Given the description of an element on the screen output the (x, y) to click on. 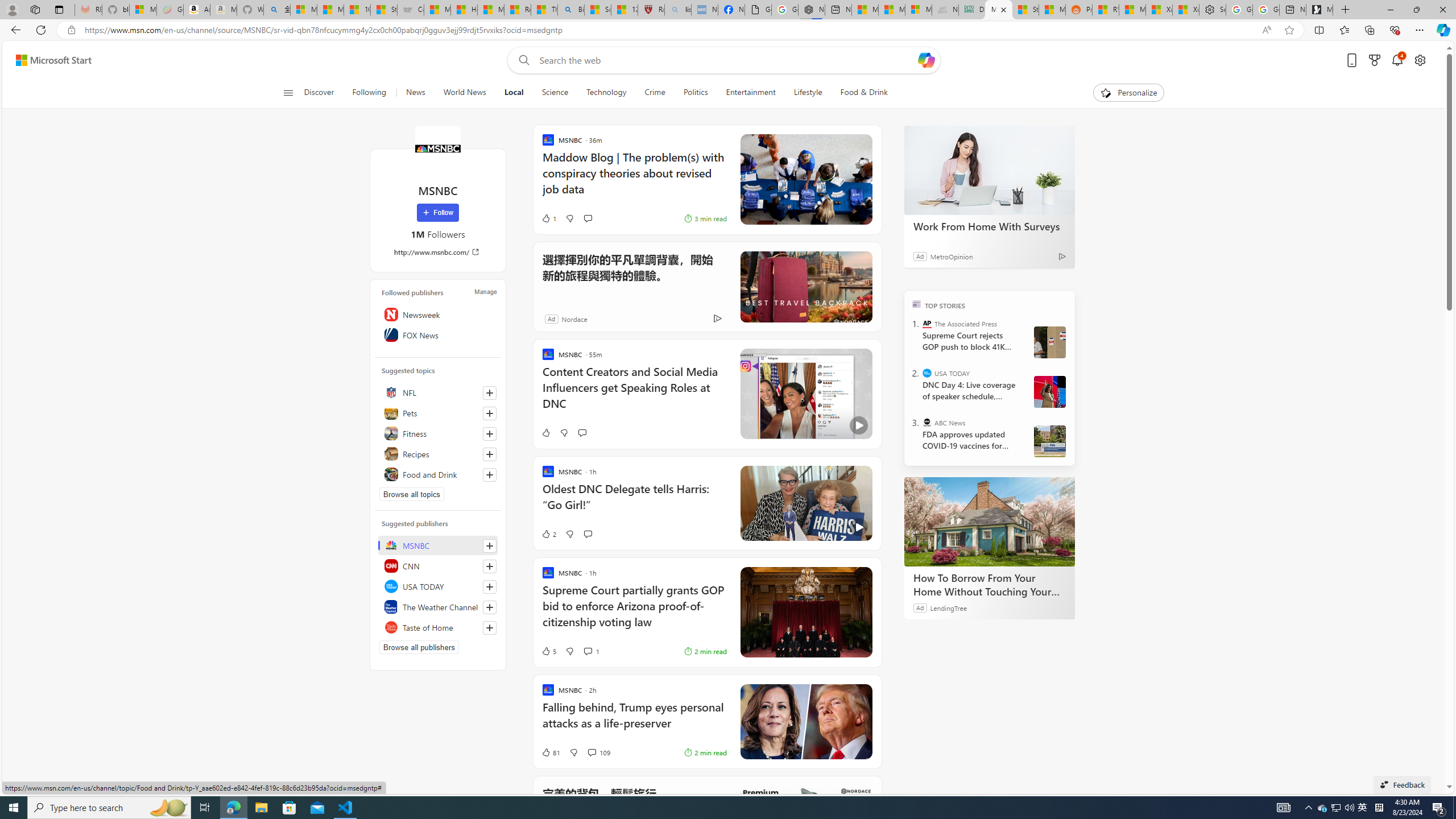
The Associated Press (927, 323)
Fitness (437, 433)
Follow this topic (489, 474)
Pets (437, 412)
